Given the description of an element on the screen output the (x, y) to click on. 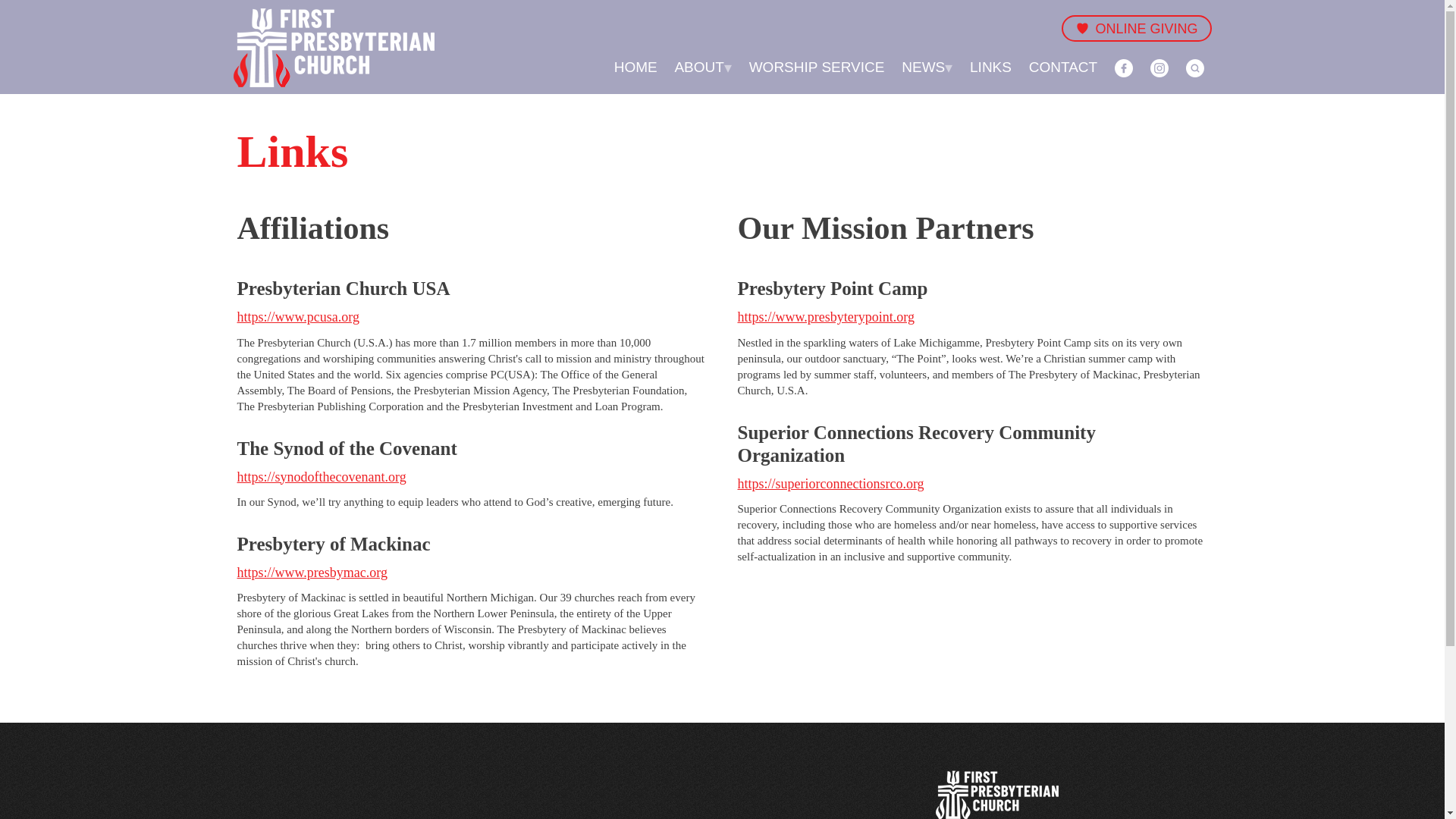
ABOUT (702, 67)
WORSHIP SERVICE (816, 67)
HOME (636, 67)
CONTACT (1063, 67)
NEWS (926, 67)
LINKS (990, 67)
